Given the description of an element on the screen output the (x, y) to click on. 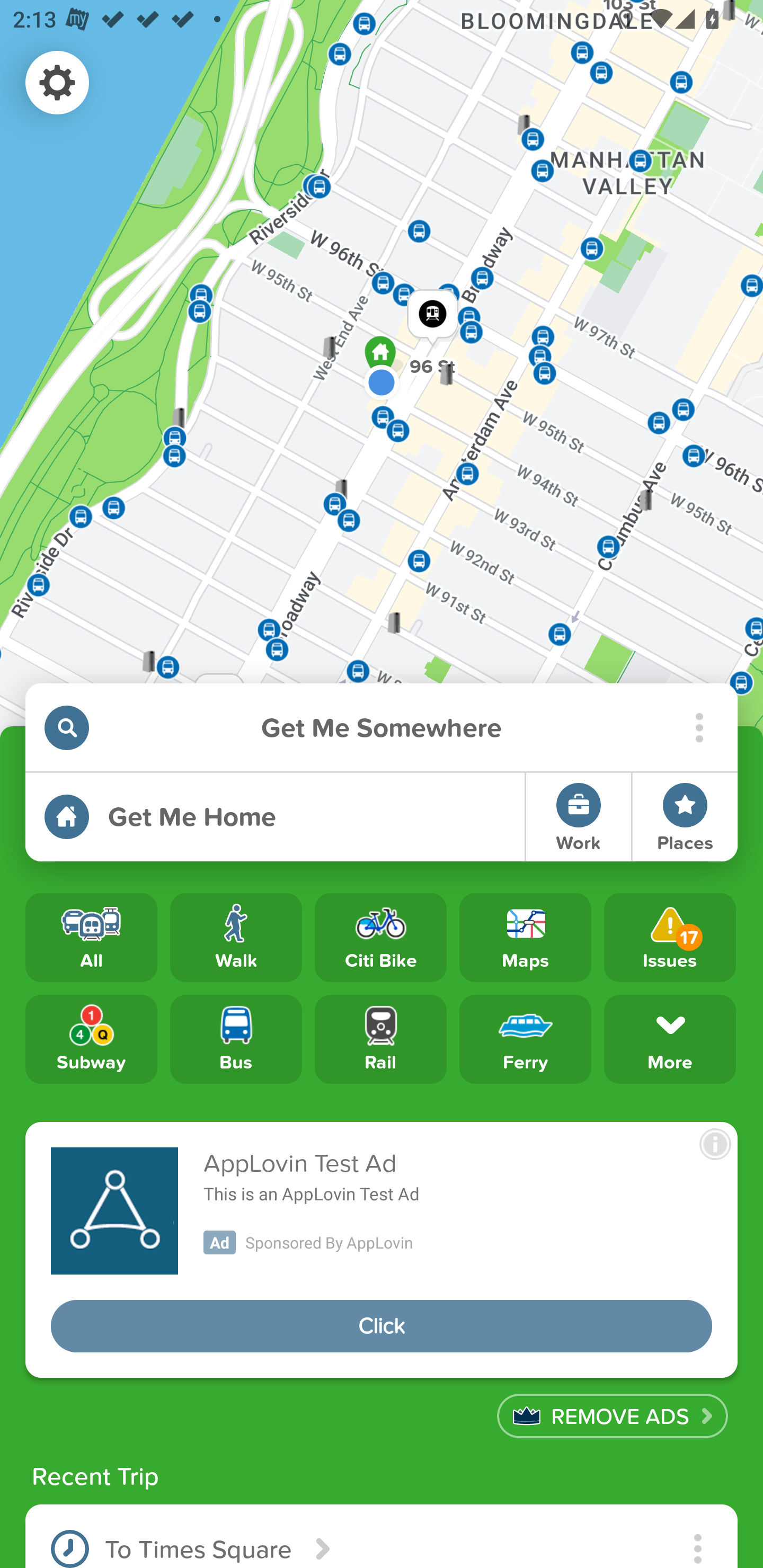
Subway (91, 1038)
